Given the description of an element on the screen output the (x, y) to click on. 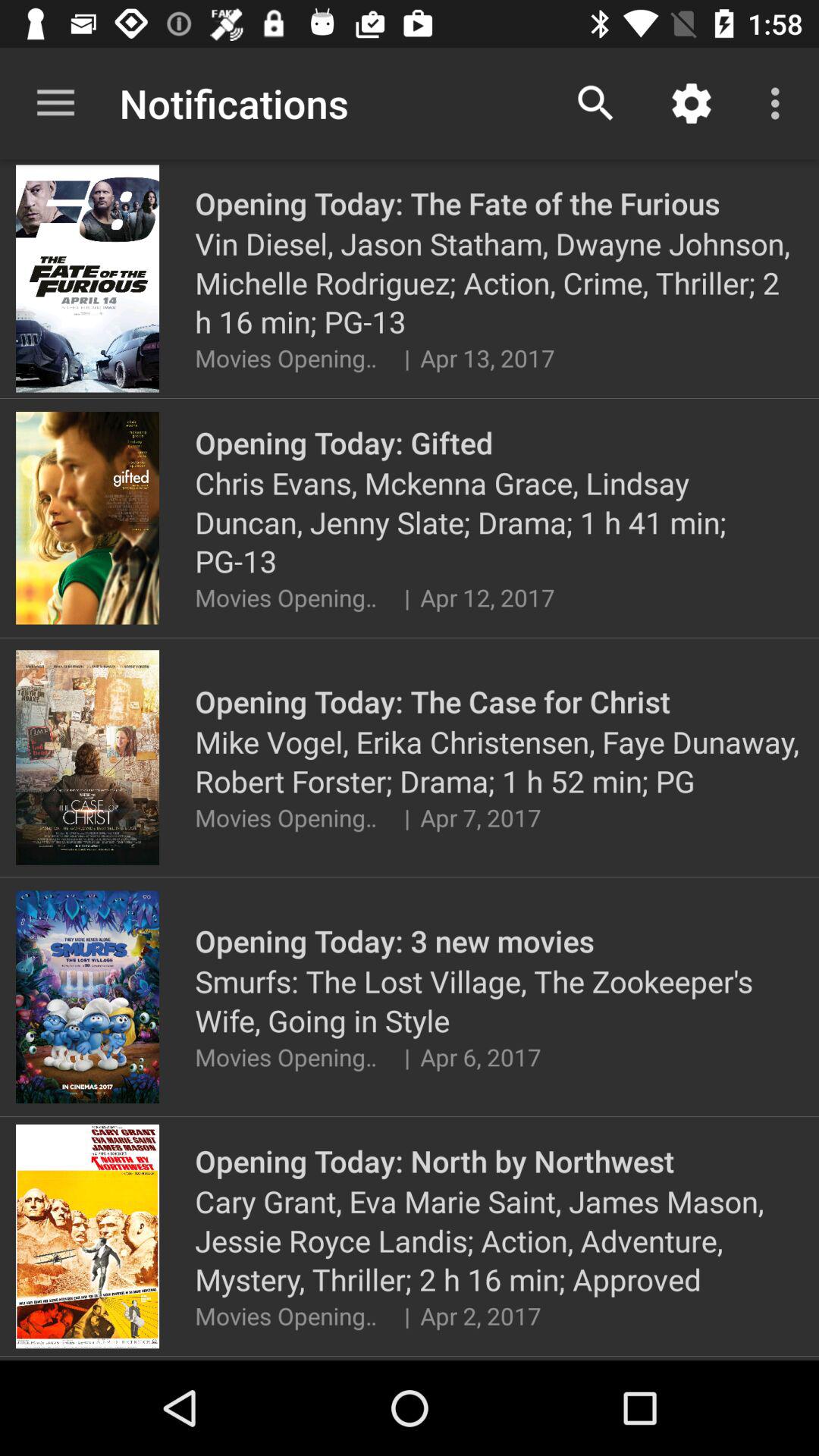
select the item below the chris evans mckenna item (407, 597)
